Given the description of an element on the screen output the (x, y) to click on. 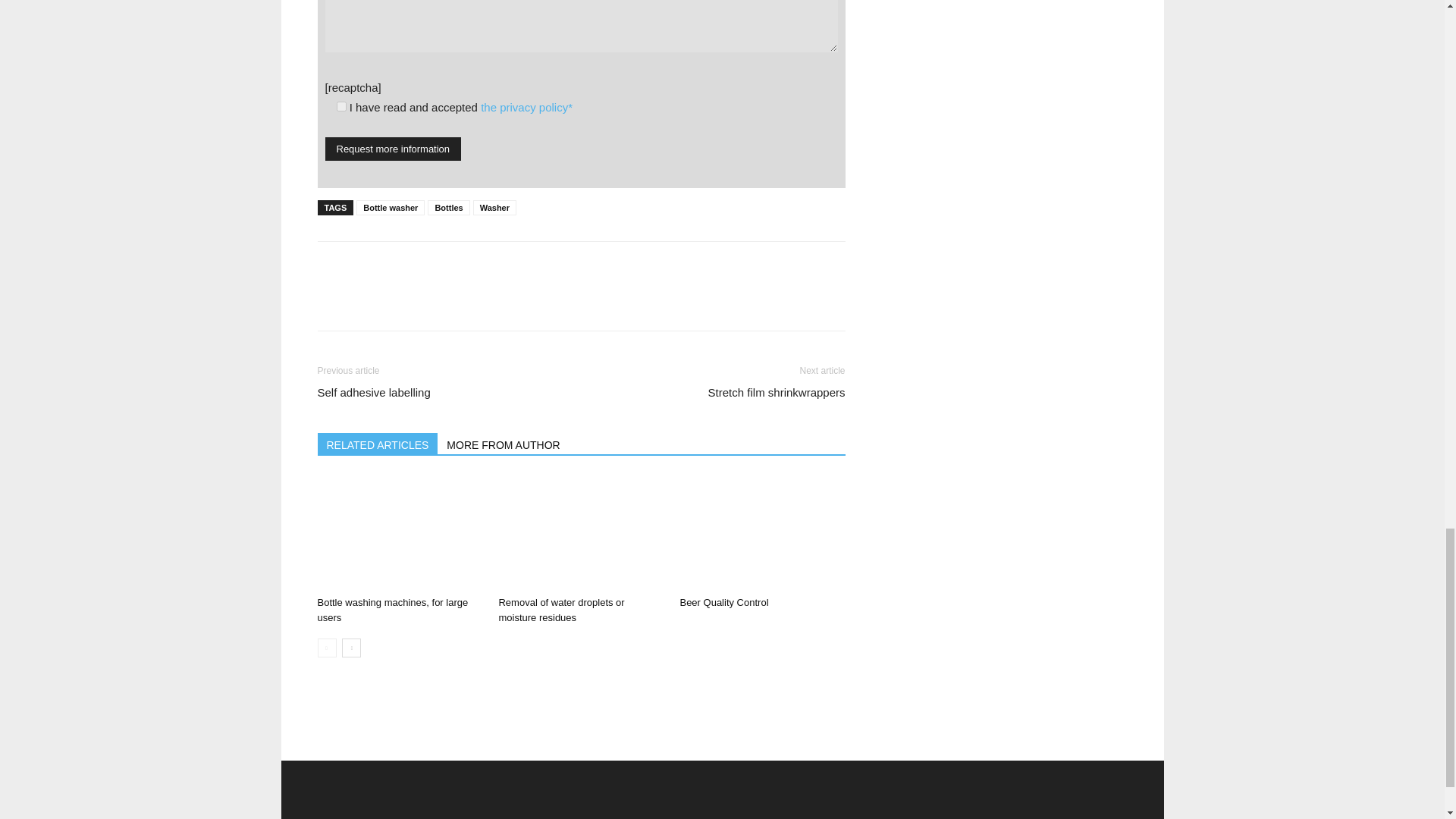
1 (341, 106)
Bottle washer (390, 207)
Washer (494, 207)
Removal of water droplets or moisture residues (580, 532)
Removal of water droplets or moisture residues (560, 610)
Bottle washing machines, for large users (399, 532)
Bottle washing machines, for large users (392, 610)
Beer Quality Control (723, 602)
Request more information (392, 148)
Bottles (448, 207)
Beer Quality Control (761, 532)
Self adhesive labelling (373, 392)
Request more information (392, 148)
Stretch film shrinkwrappers (776, 392)
